Given the description of an element on the screen output the (x, y) to click on. 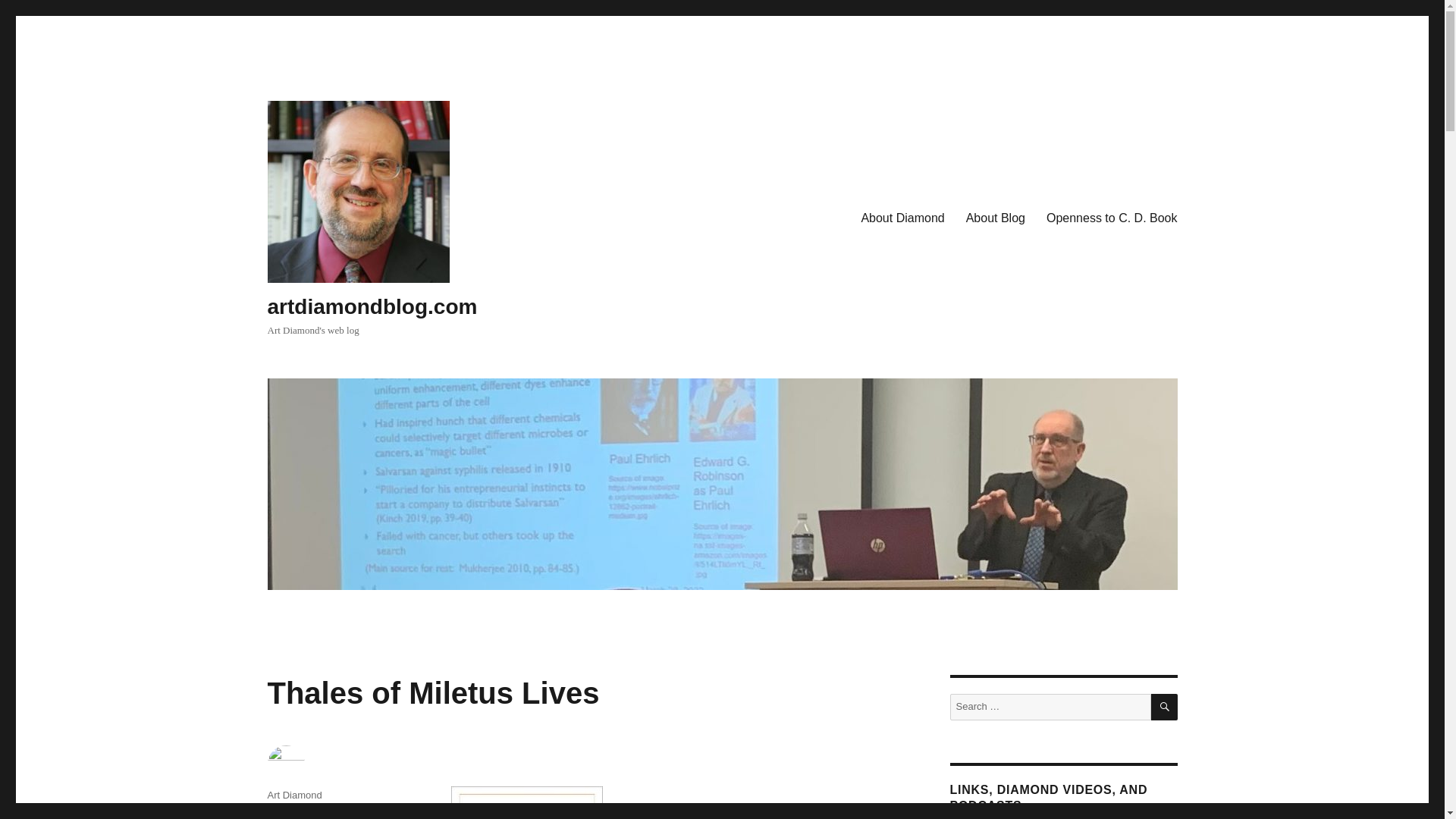
Openness to C. D. Book (1111, 218)
Art Diamond (293, 794)
About Blog (995, 218)
SEARCH (1164, 706)
October 7, 2007 (301, 814)
artdiamondblog.com (371, 306)
About Diamond (902, 218)
